Given the description of an element on the screen output the (x, y) to click on. 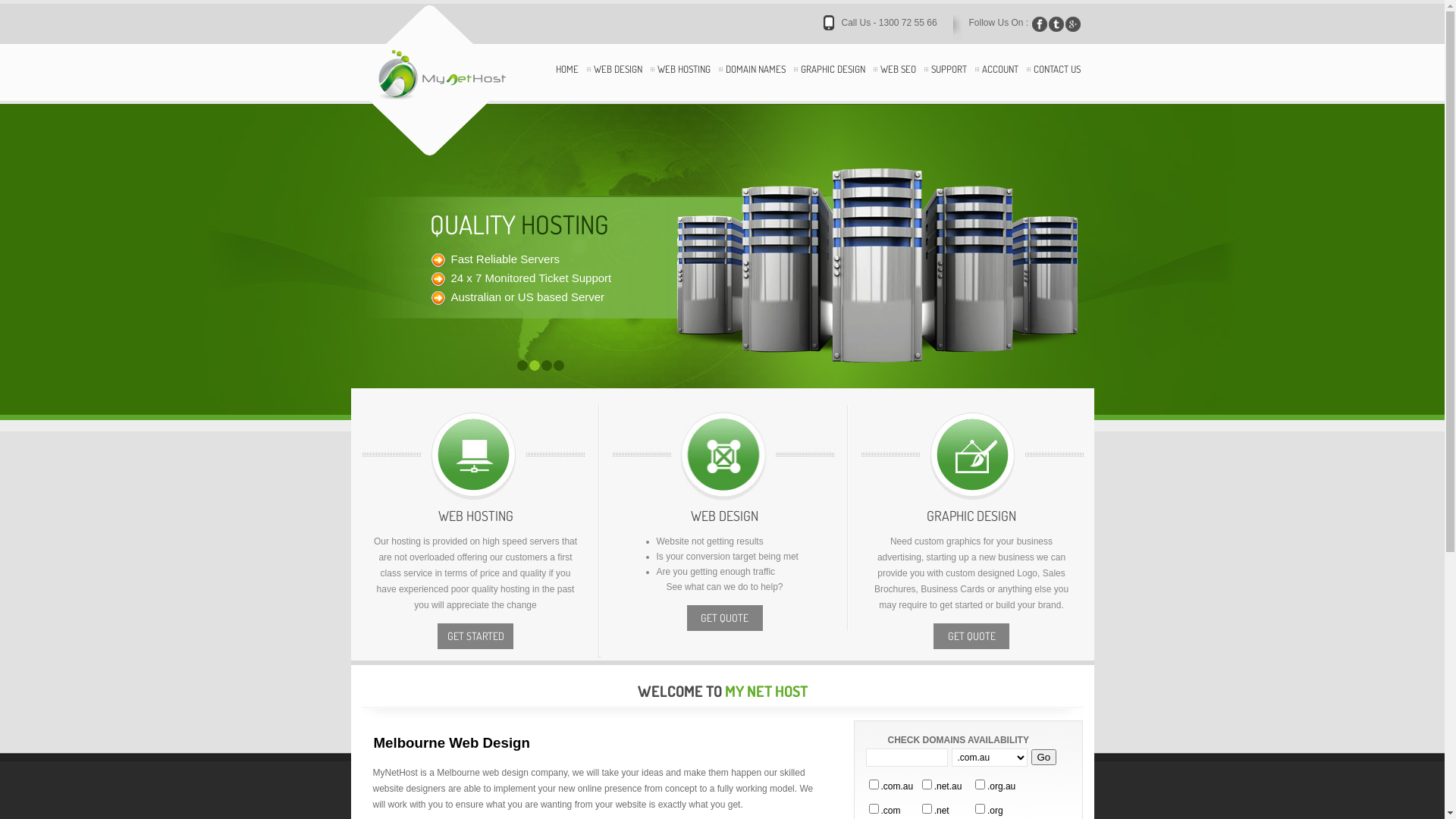
CONTACT US Element type: text (1055, 81)
WEB SEO Element type: text (897, 81)
Go Element type: text (1044, 757)
HOME Element type: text (566, 81)
DOMAIN NAMES Element type: text (754, 81)
WEB HOSTING Element type: text (682, 81)
WEB DESIGN Element type: text (617, 81)
ACCOUNT Element type: text (999, 81)
GET QUOTE Element type: text (724, 617)
GET QUOTE Element type: text (971, 636)
SUPPORT Element type: text (948, 81)
GRAPHIC DESIGN Element type: text (832, 81)
GET STARTED Element type: text (475, 636)
